Given the description of an element on the screen output the (x, y) to click on. 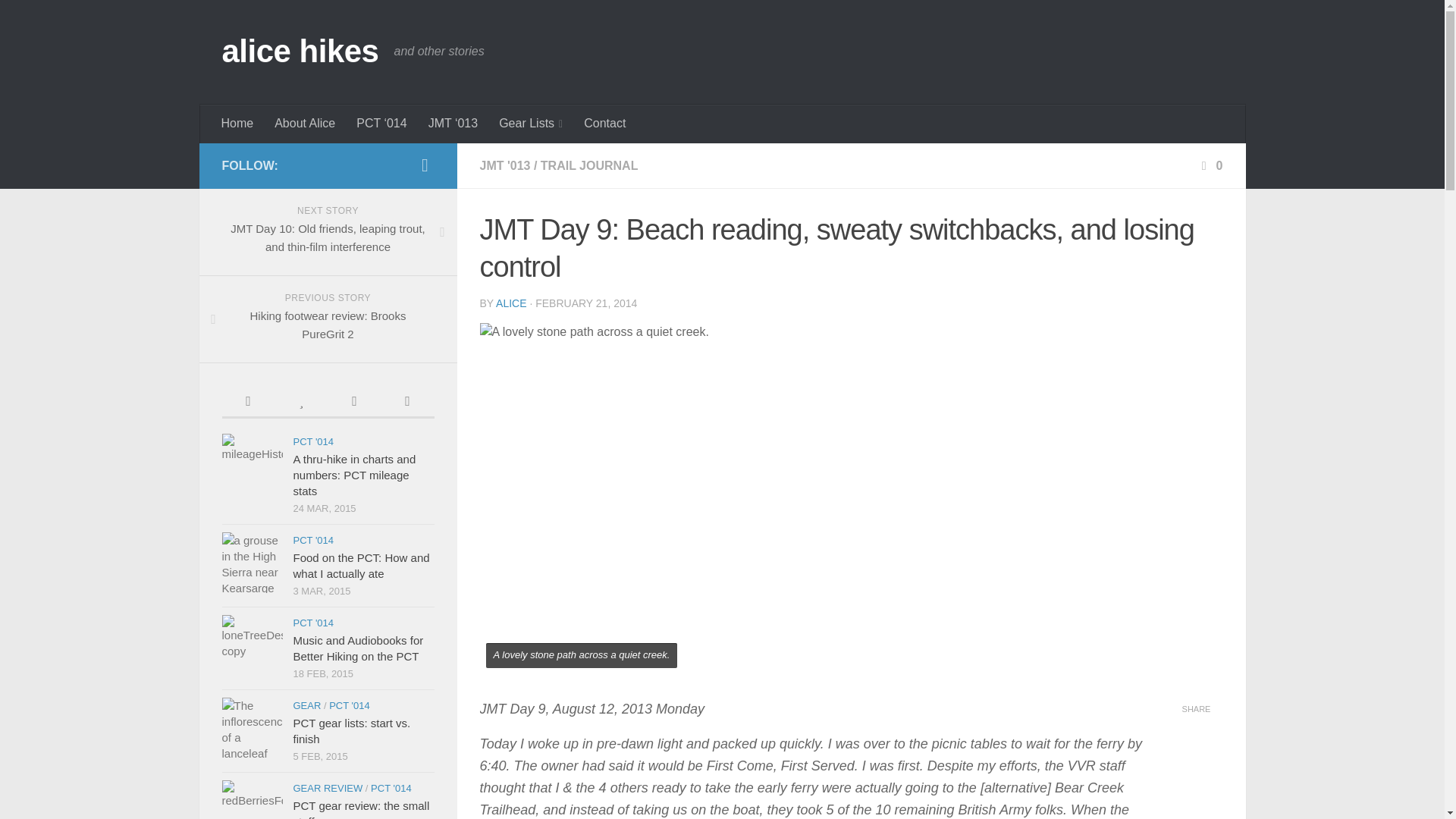
Posts by Alice (510, 303)
Contact (604, 123)
ALICE (510, 303)
alice hikes (327, 319)
RSS (299, 51)
About Alice (423, 165)
Gear Lists (304, 123)
Recent Posts (530, 123)
TRAIL JOURNAL (248, 401)
Home (589, 164)
JMT '013 (237, 123)
0 (504, 164)
